Given the description of an element on the screen output the (x, y) to click on. 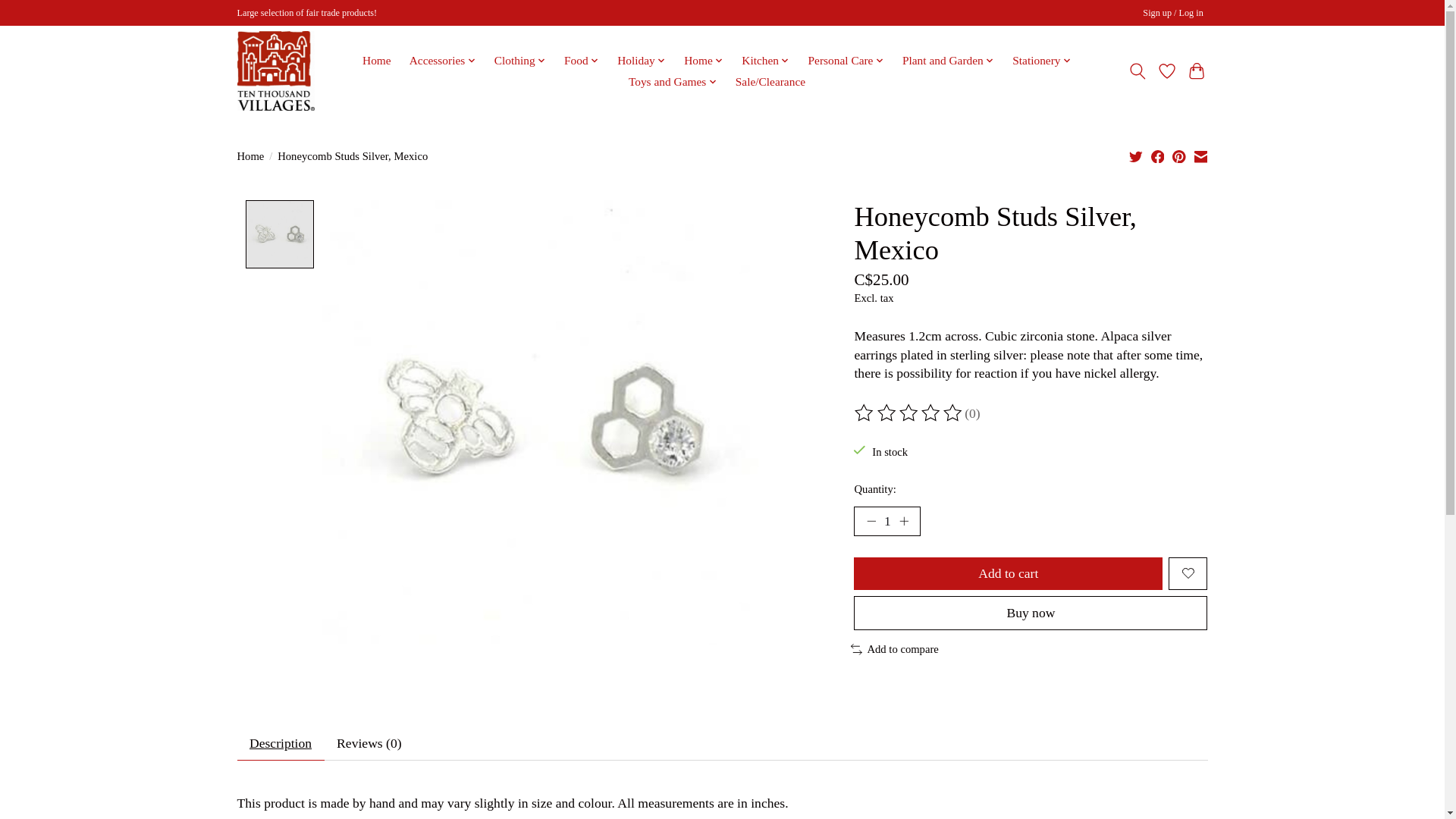
My account (1173, 13)
Brandon - Ten Thousand Villages (274, 70)
Clothing (519, 60)
1 (886, 521)
Share by Email (1200, 156)
Accessories (442, 60)
Food (582, 60)
Share on Pinterest (1178, 156)
Share on Twitter (1135, 156)
Share on Facebook (1157, 156)
